Given the description of an element on the screen output the (x, y) to click on. 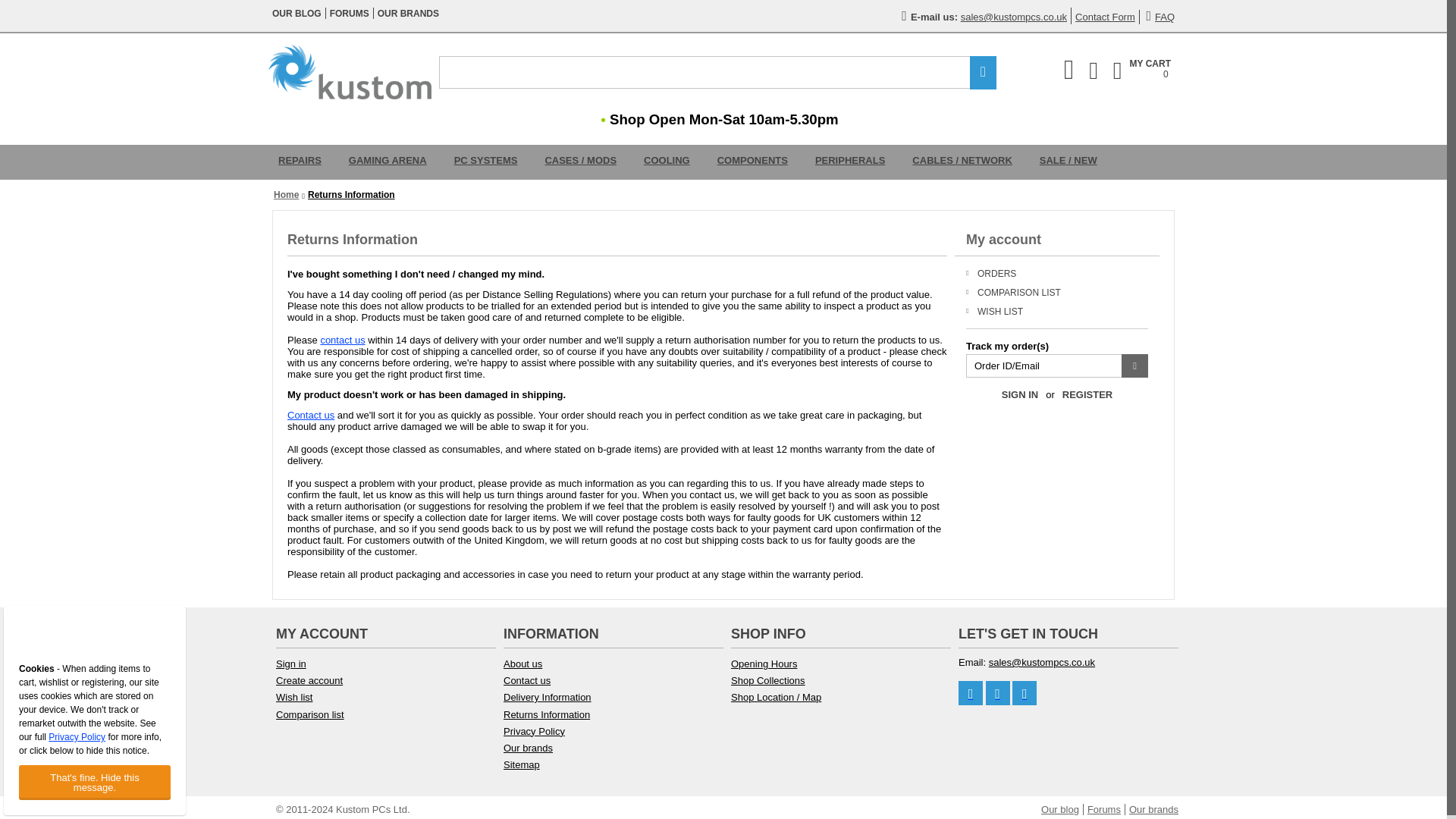
GAMING ARENA (387, 161)
FORUMS (1141, 70)
Search products (349, 13)
FAQ (717, 72)
OUR BLOG (1159, 16)
OUR BRANDS (296, 13)
REPAIRS (408, 13)
Contact Form (299, 161)
